Given the description of an element on the screen output the (x, y) to click on. 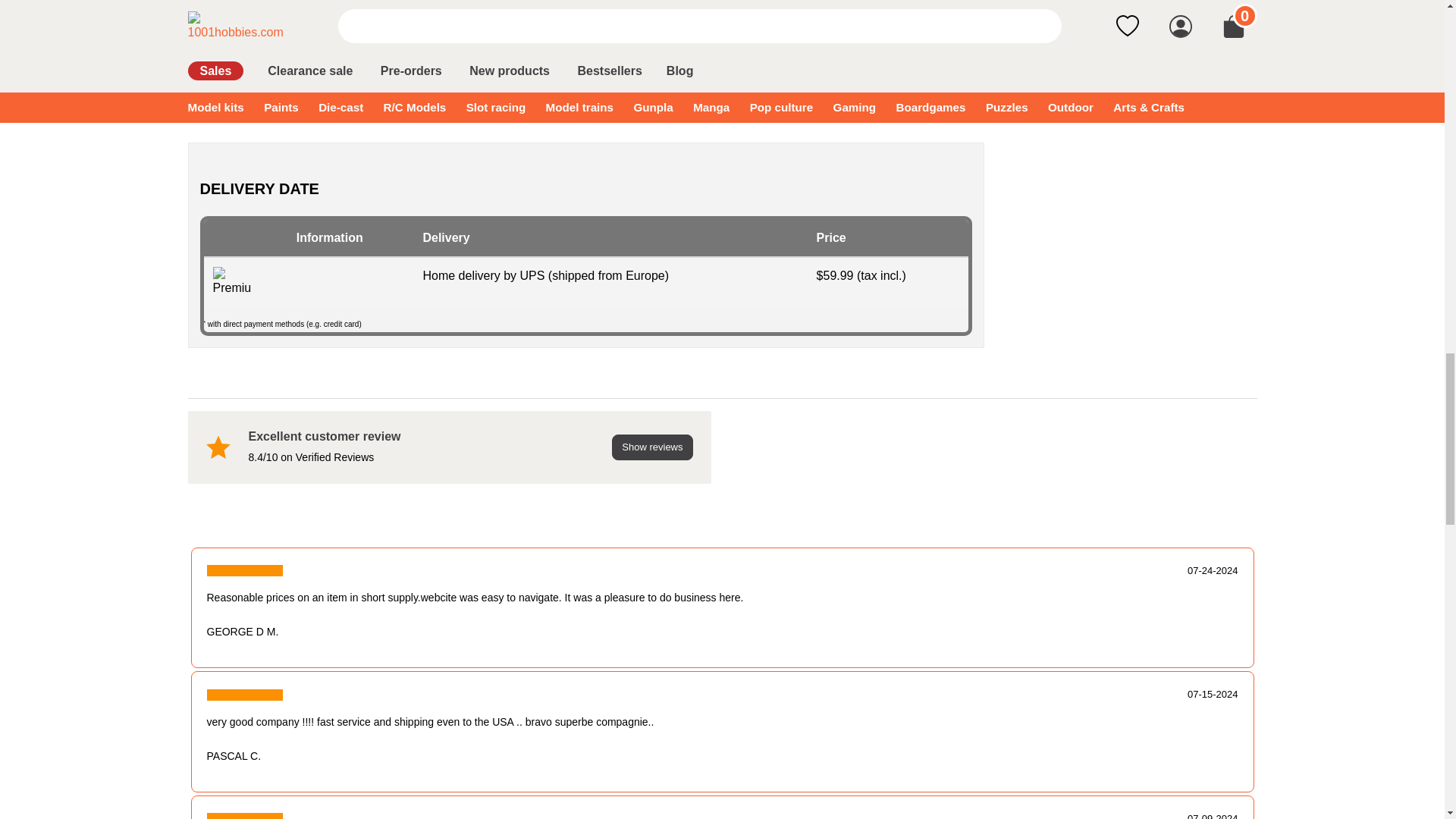
Premium (231, 281)
